Given the description of an element on the screen output the (x, y) to click on. 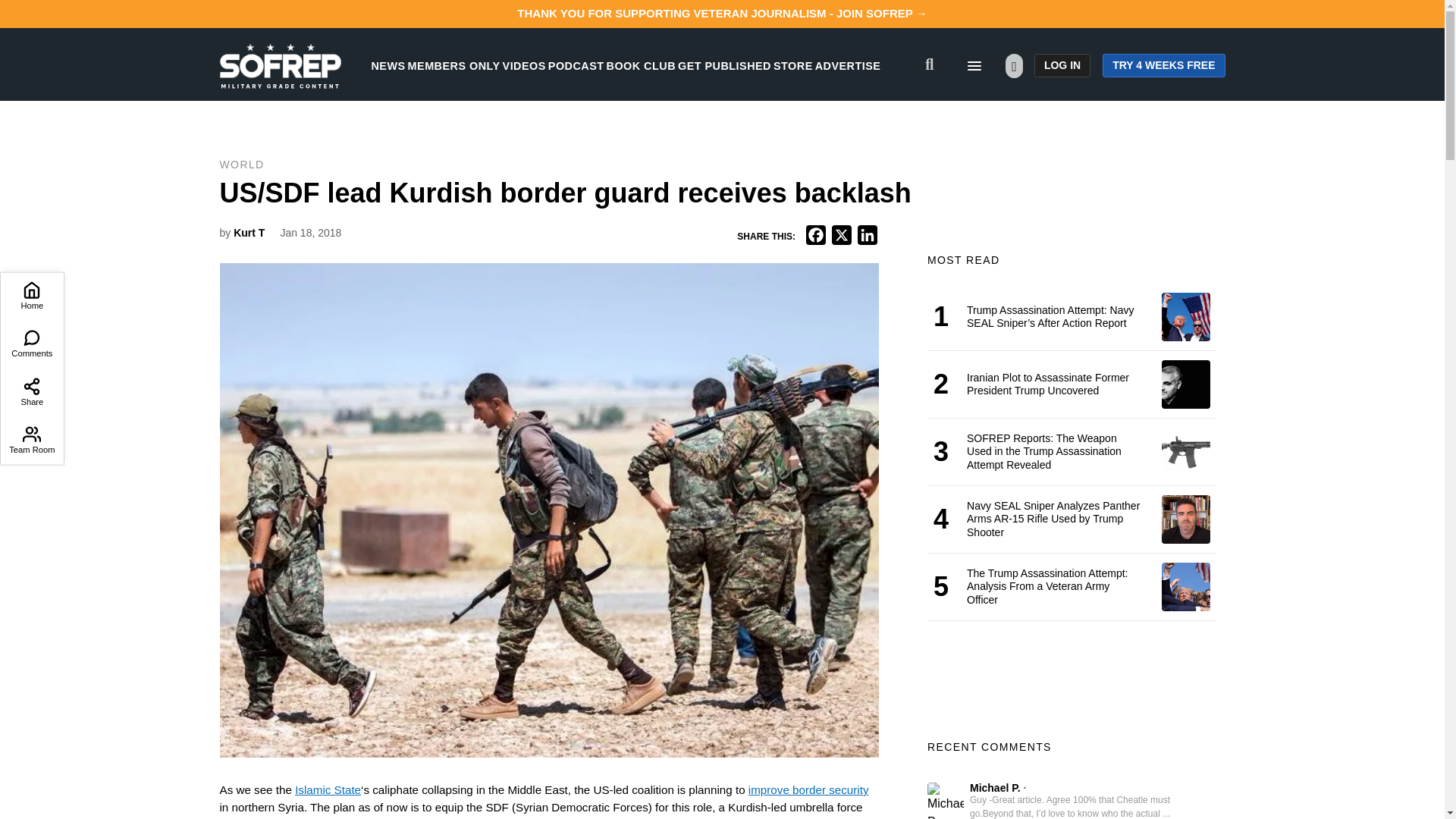
VIDEOS (524, 65)
TRY 4 WEEKS FREE (1163, 65)
PODCAST (576, 65)
ADVERTISE (847, 65)
NEWS (388, 65)
LOG IN (1061, 65)
STORE (792, 65)
MEMBERS ONLY (453, 65)
GET PUBLISHED (724, 65)
BOOK CLUB (641, 65)
